Given the description of an element on the screen output the (x, y) to click on. 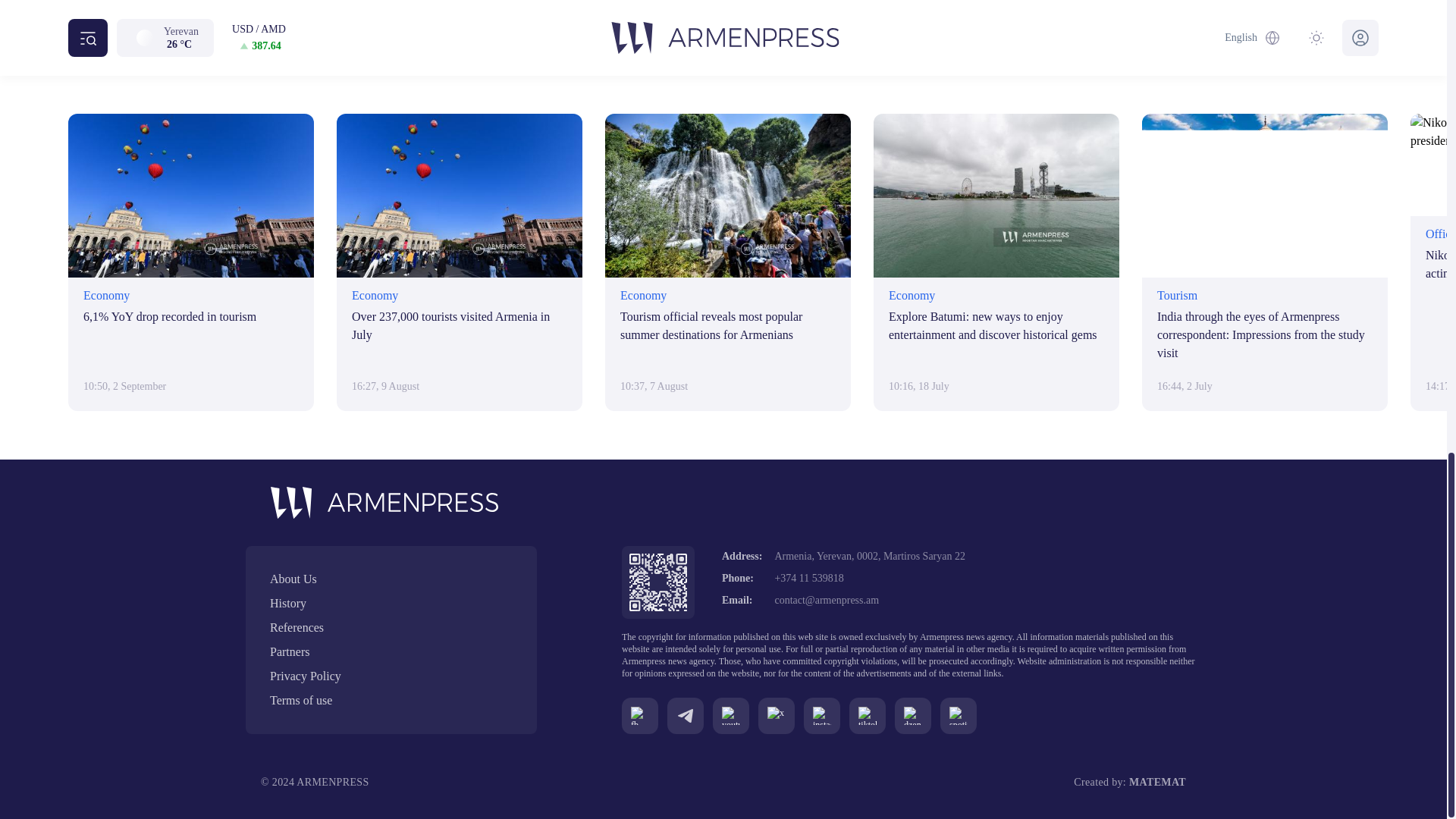
History (390, 603)
Partners (390, 651)
Privacy Policy (390, 676)
References (390, 628)
About Us (390, 579)
Terms of use (390, 700)
